Given the description of an element on the screen output the (x, y) to click on. 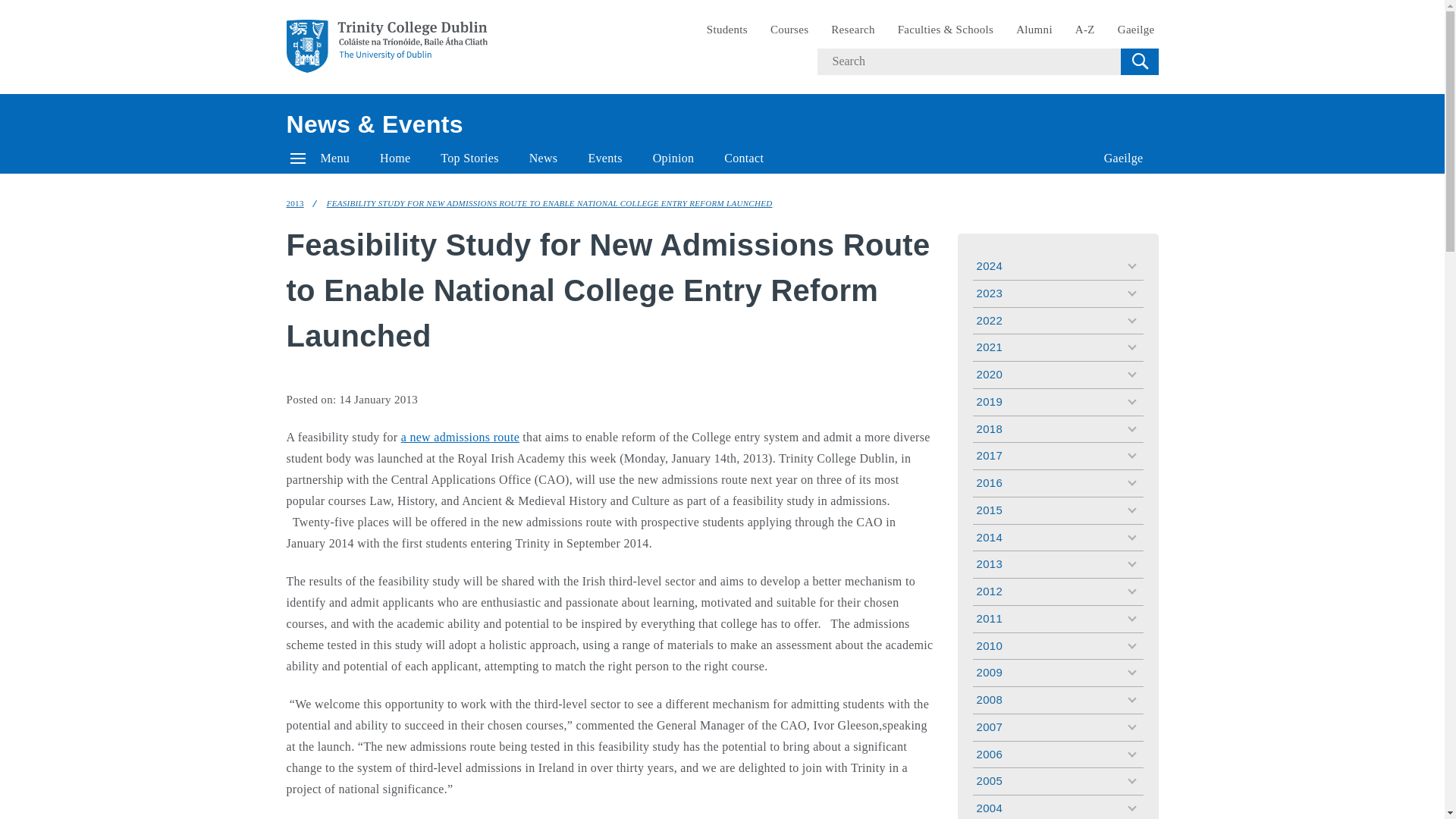
2013 (295, 203)
Home (395, 158)
Contact (743, 158)
News (543, 158)
Gaeilge (1123, 158)
A-Z (1085, 29)
Menu (320, 158)
Students (727, 29)
Research (852, 29)
